Given the description of an element on the screen output the (x, y) to click on. 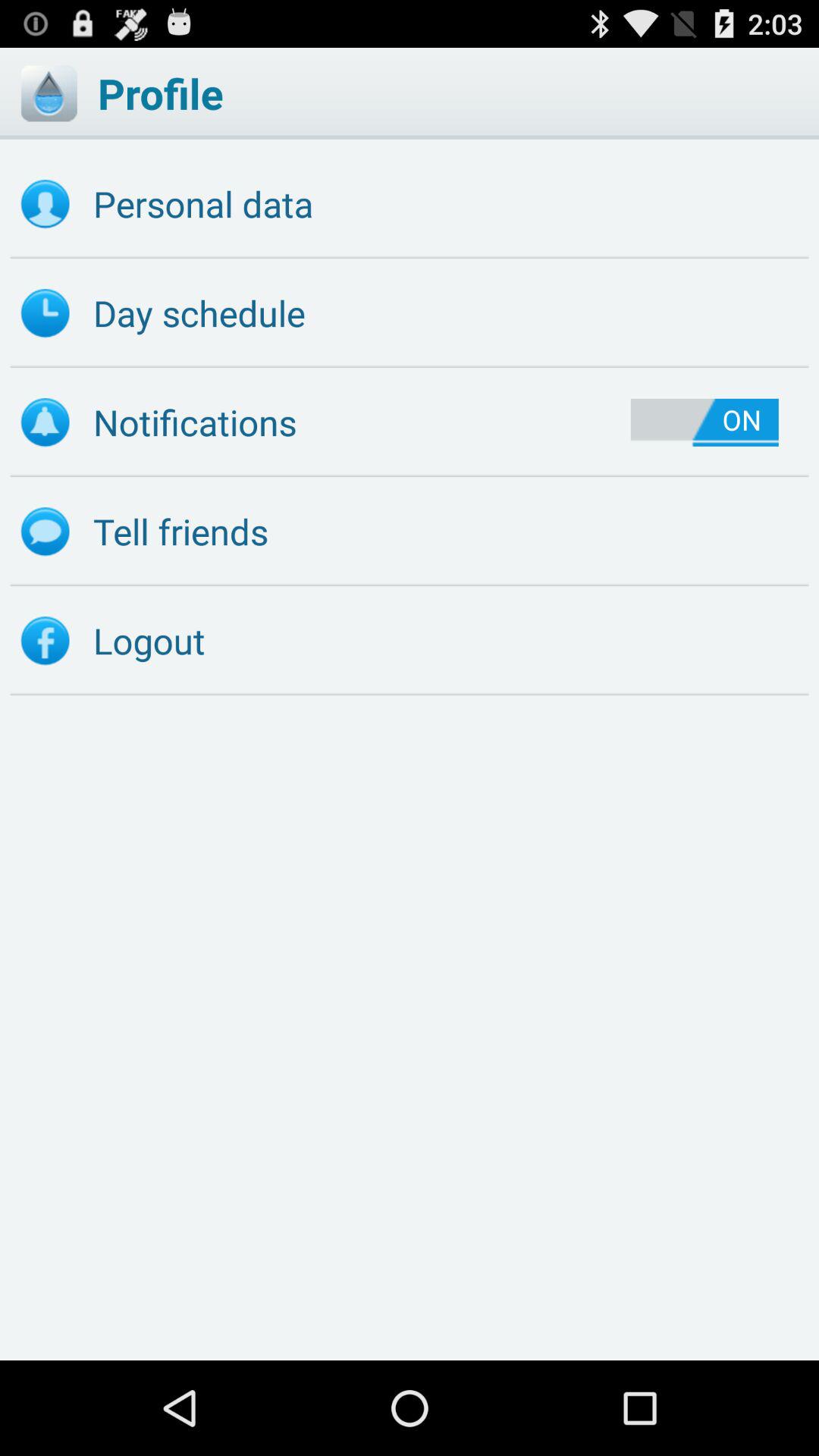
press the item above logout (409, 531)
